Given the description of an element on the screen output the (x, y) to click on. 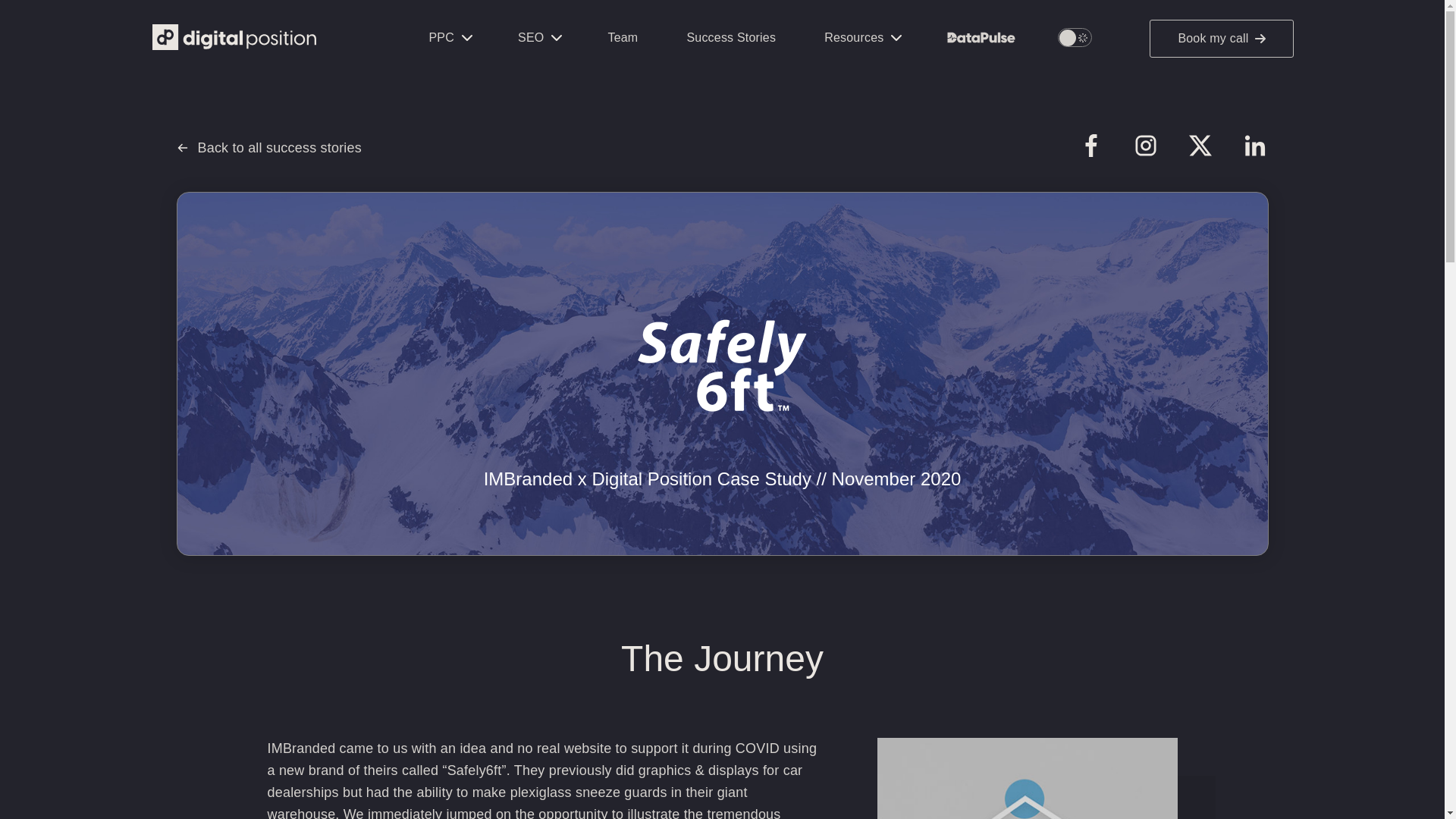
PPC (449, 37)
SEO (538, 37)
on (1073, 36)
